Given the description of an element on the screen output the (x, y) to click on. 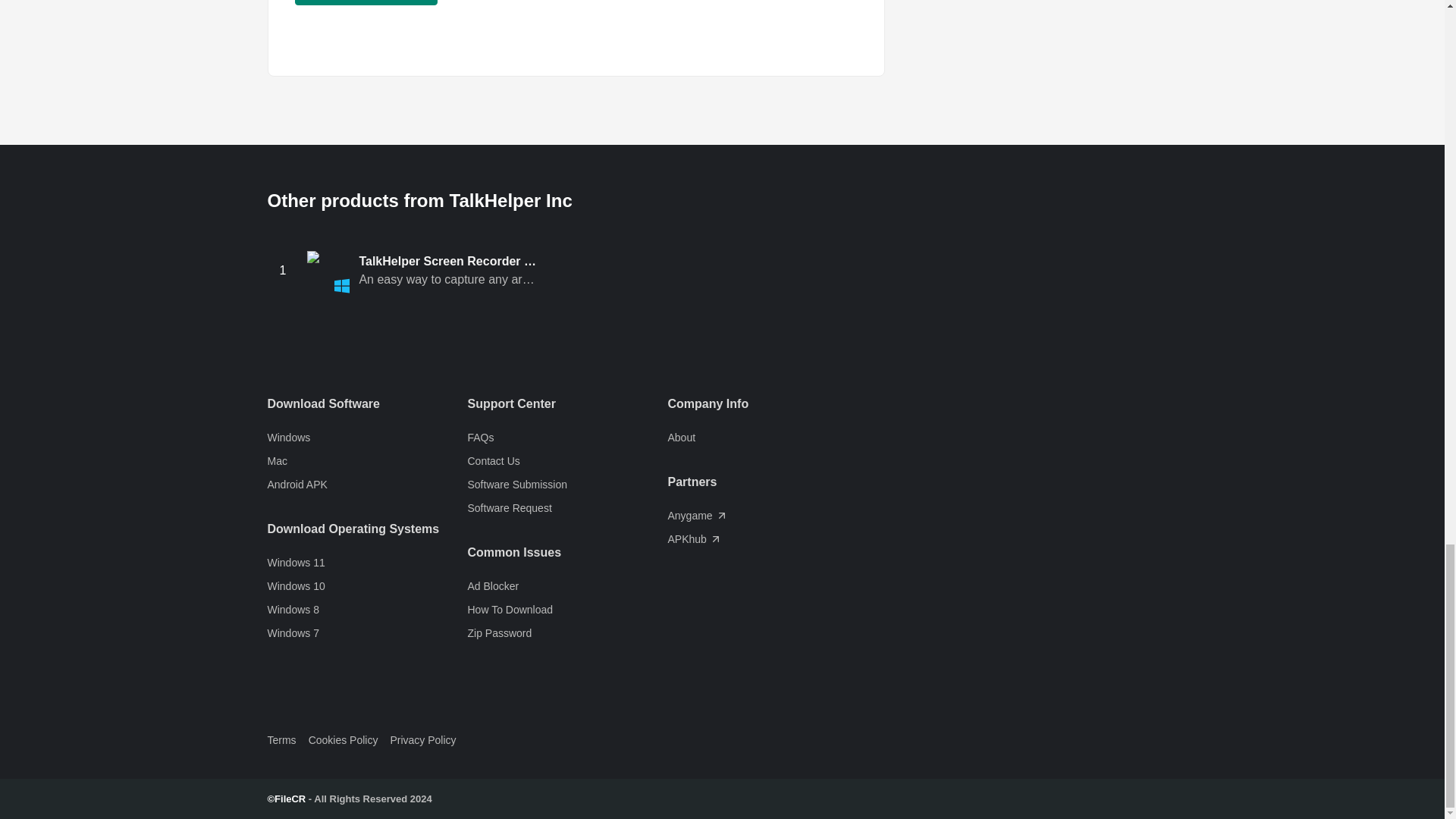
Mac (366, 461)
Post Comment (366, 2)
Windows (366, 437)
